Given the description of an element on the screen output the (x, y) to click on. 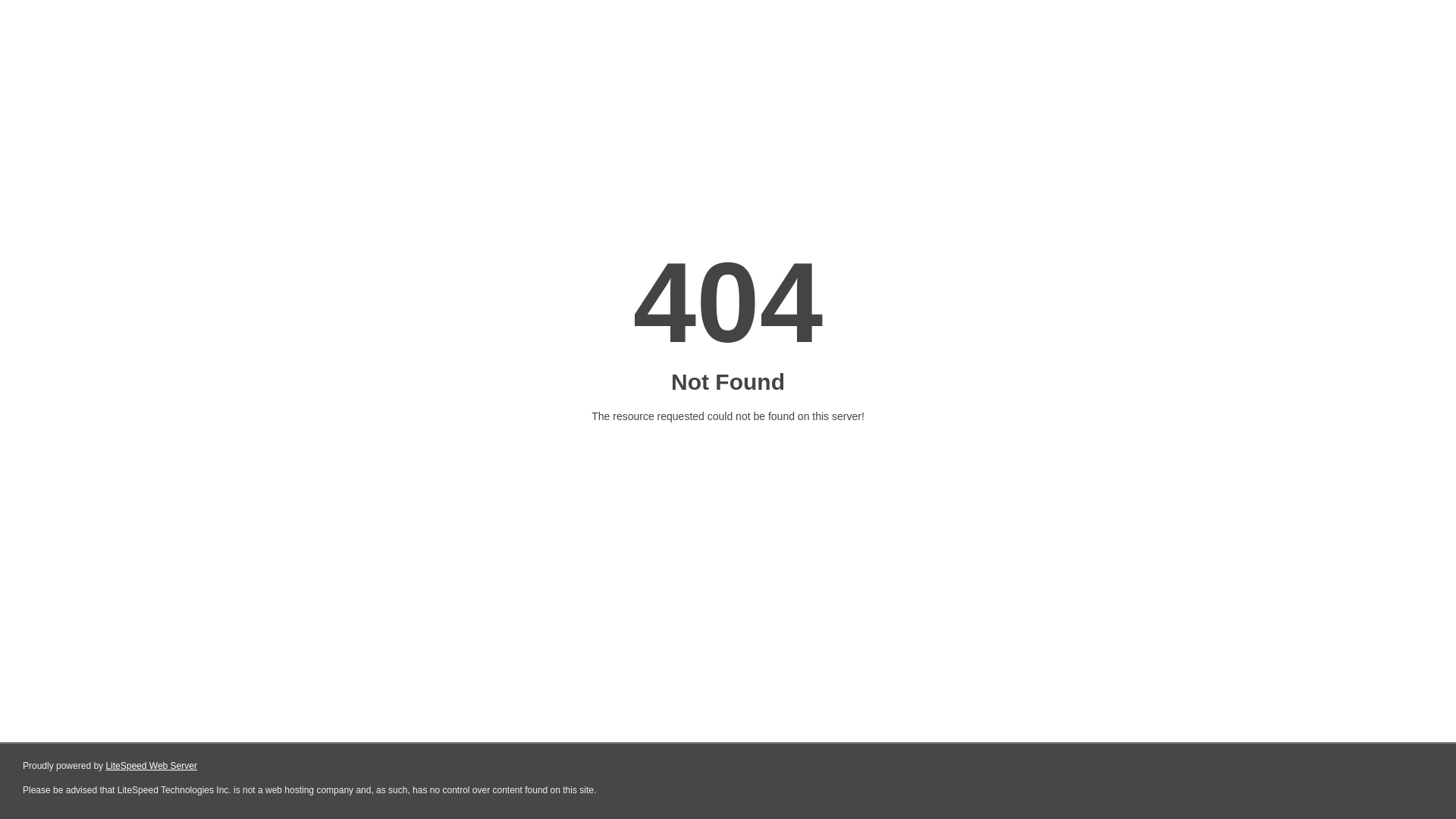
LiteSpeed Web Server Element type: text (151, 765)
